Given the description of an element on the screen output the (x, y) to click on. 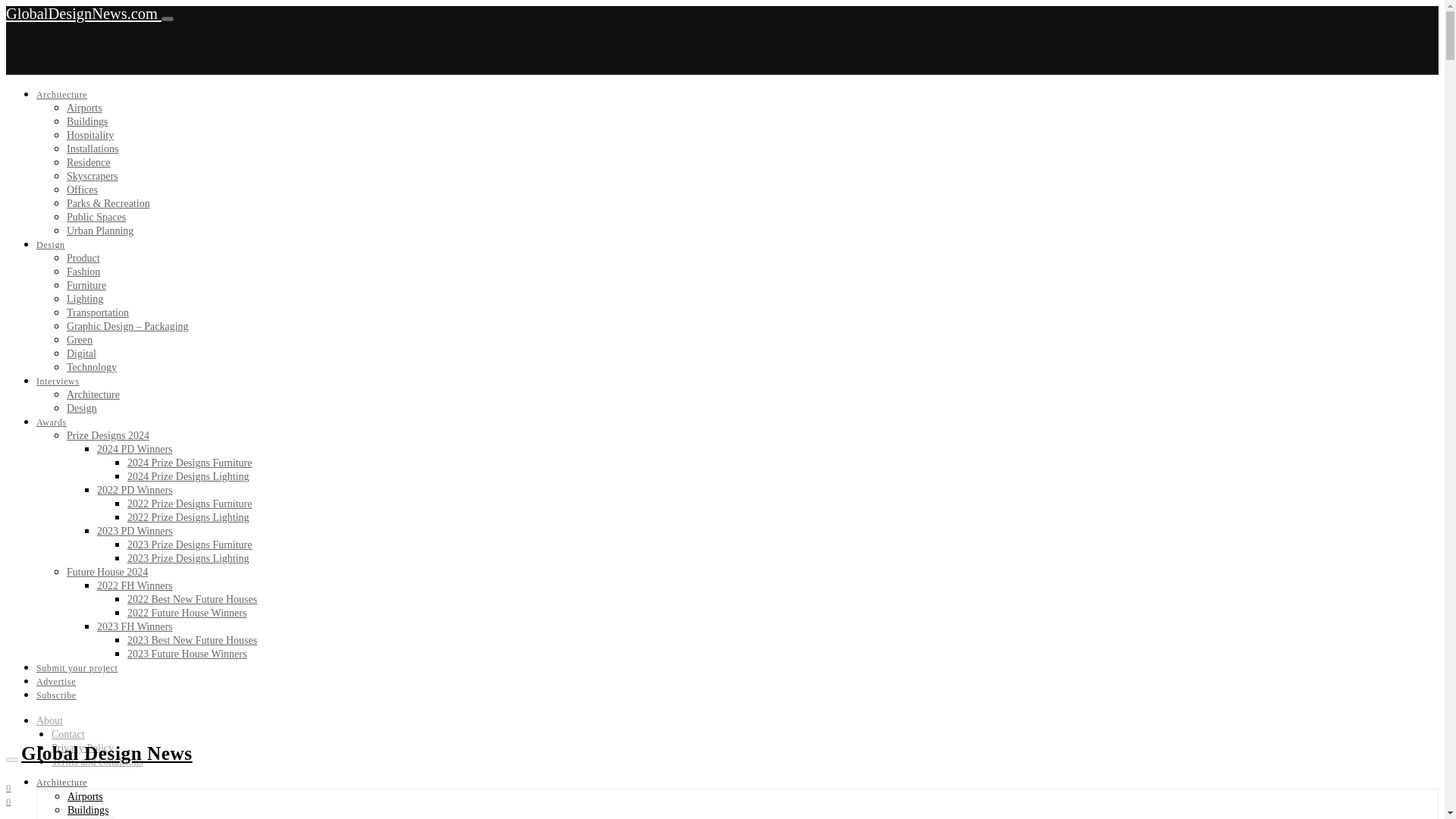
Urban Planning (99, 230)
2022 Prize Designs Lighting (188, 517)
2023 Prize Designs Lighting (188, 558)
Architecture (92, 394)
Design (81, 408)
Green (79, 339)
2024 Prize Designs Furniture (189, 462)
Furniture (86, 285)
2023 PD Winners (135, 531)
Design (50, 244)
2022 PD Winners (135, 490)
Prize Designs 2024 (107, 435)
GlobalDesignNews.com (83, 13)
Public Spaces (95, 216)
2024 PD Winners (135, 449)
